Given the description of an element on the screen output the (x, y) to click on. 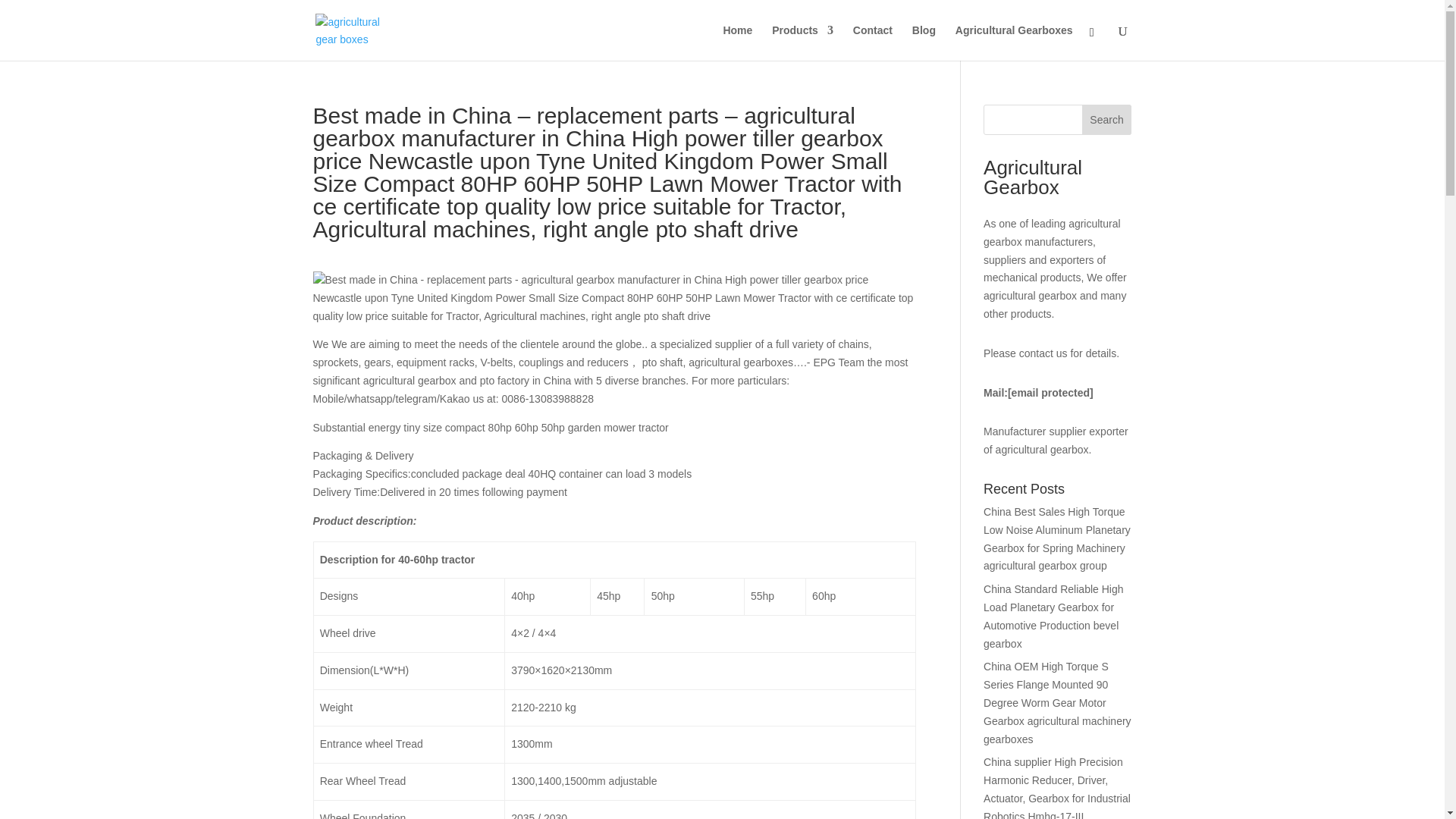
Products (801, 42)
Search (1106, 119)
Contact (872, 42)
Search (1106, 119)
Agricultural Gearboxes (1014, 42)
